Given the description of an element on the screen output the (x, y) to click on. 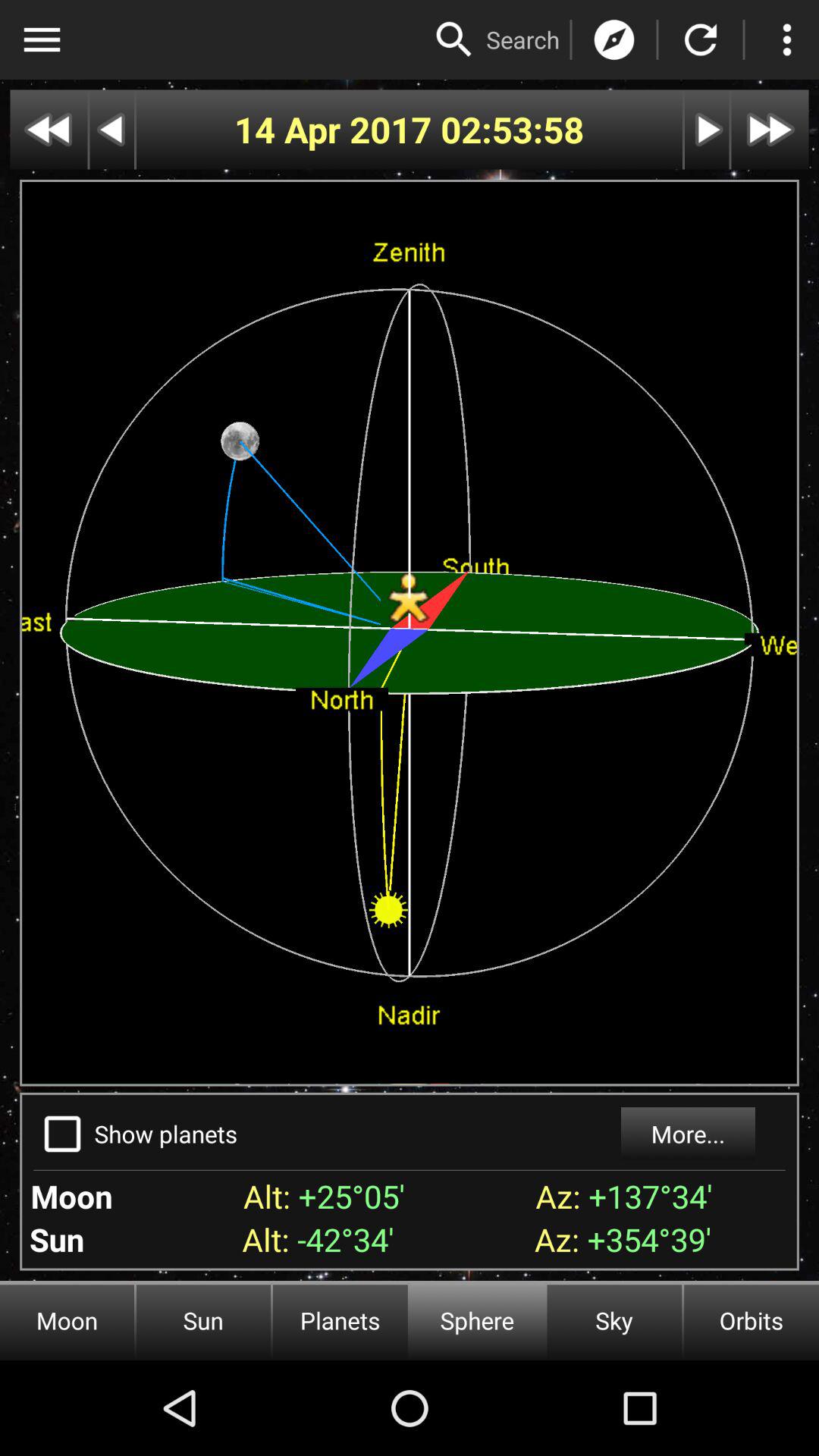
turn off the 02:53:58 icon (512, 129)
